Given the description of an element on the screen output the (x, y) to click on. 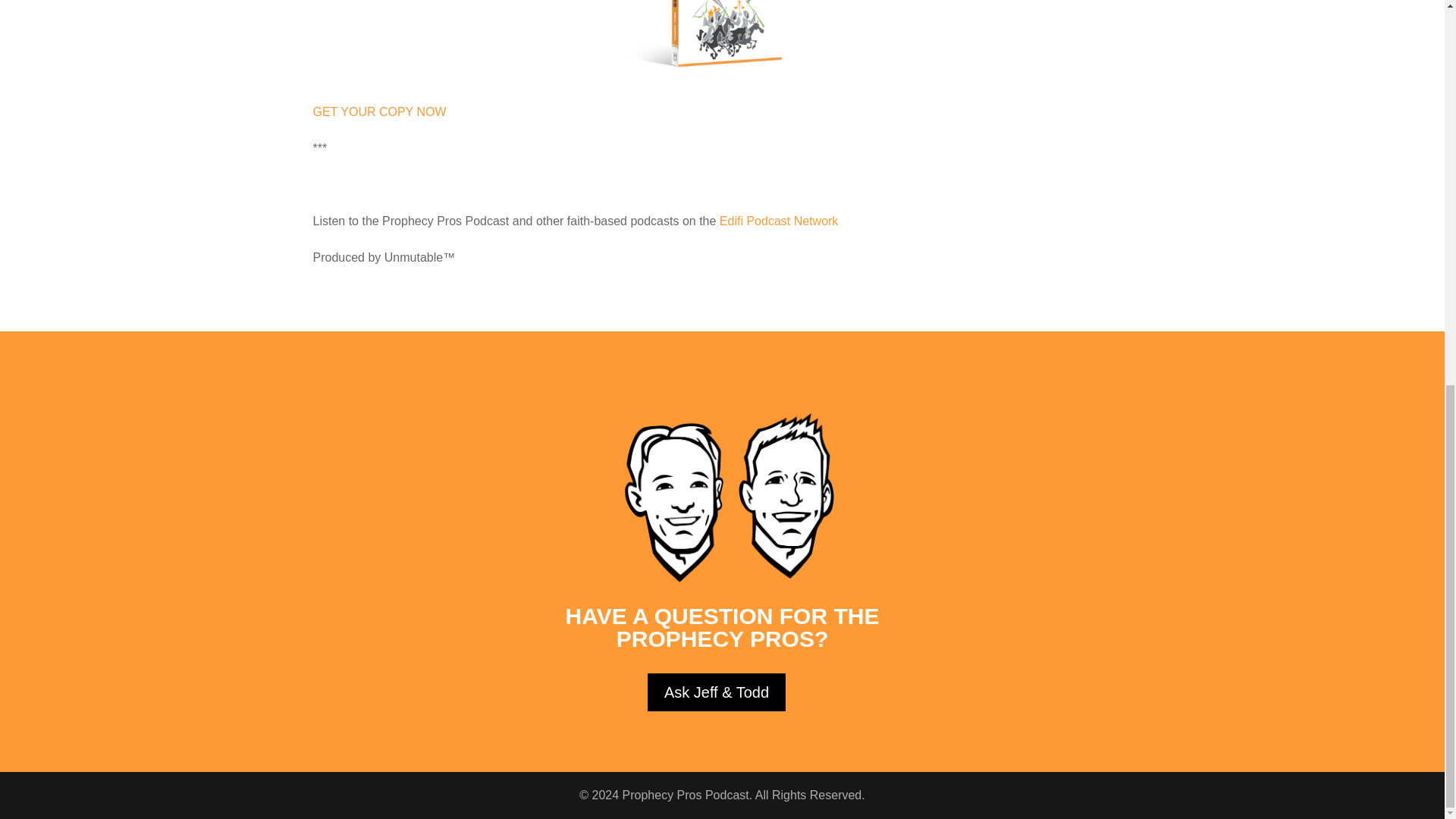
Edifi Podcast Network (778, 220)
GET YOUR COPY NOW  (380, 111)
